Given the description of an element on the screen output the (x, y) to click on. 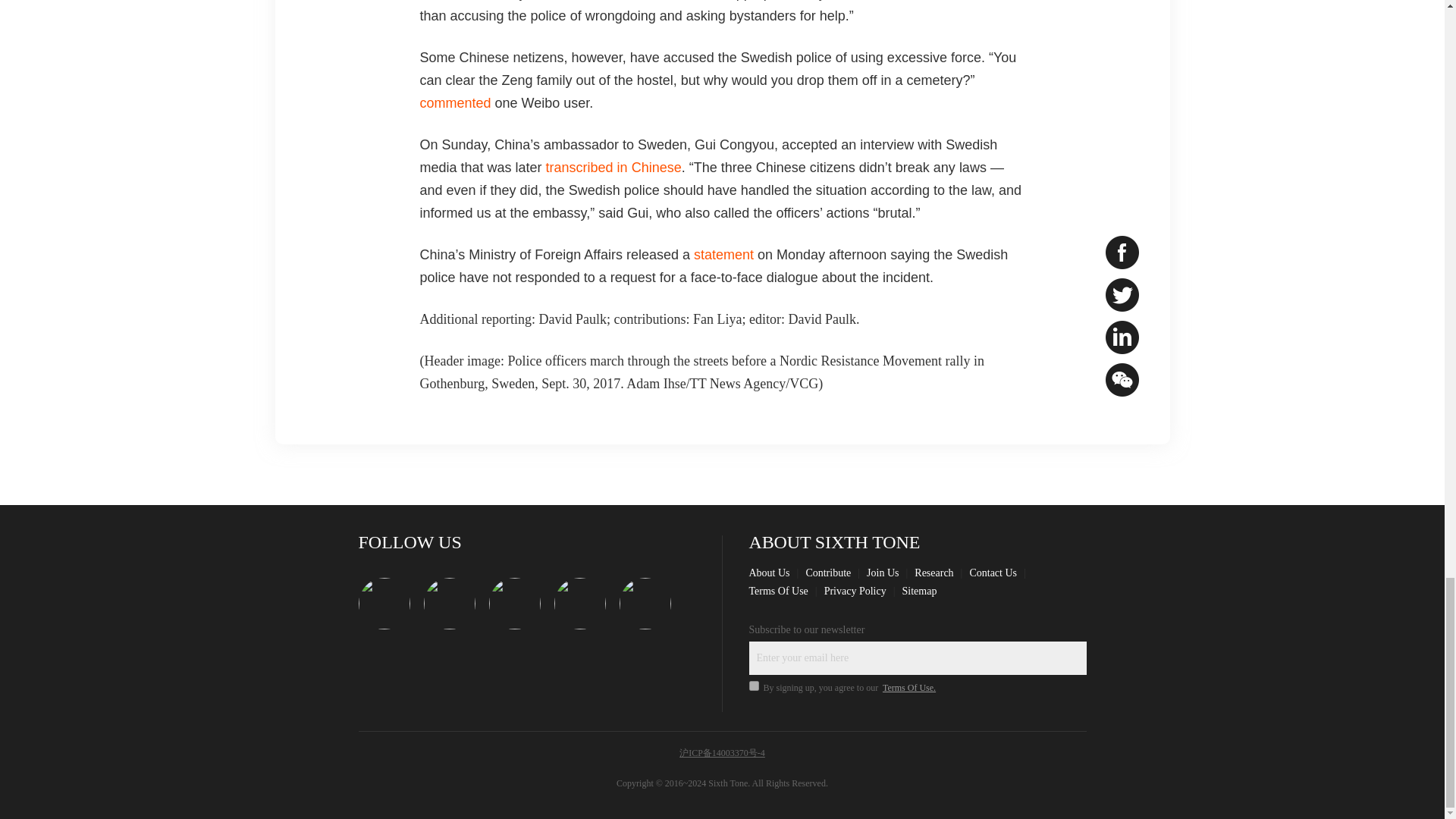
commented (456, 102)
Contact Us (992, 572)
Join Us (882, 572)
About Us (769, 572)
transcribed in Chinese (613, 167)
Sitemap (919, 591)
Terms Of Use (778, 591)
Privacy Policy (855, 591)
Contribute (827, 572)
statement (724, 254)
Terms Of Use. (909, 687)
on (753, 685)
Research (933, 572)
